Given the description of an element on the screen output the (x, y) to click on. 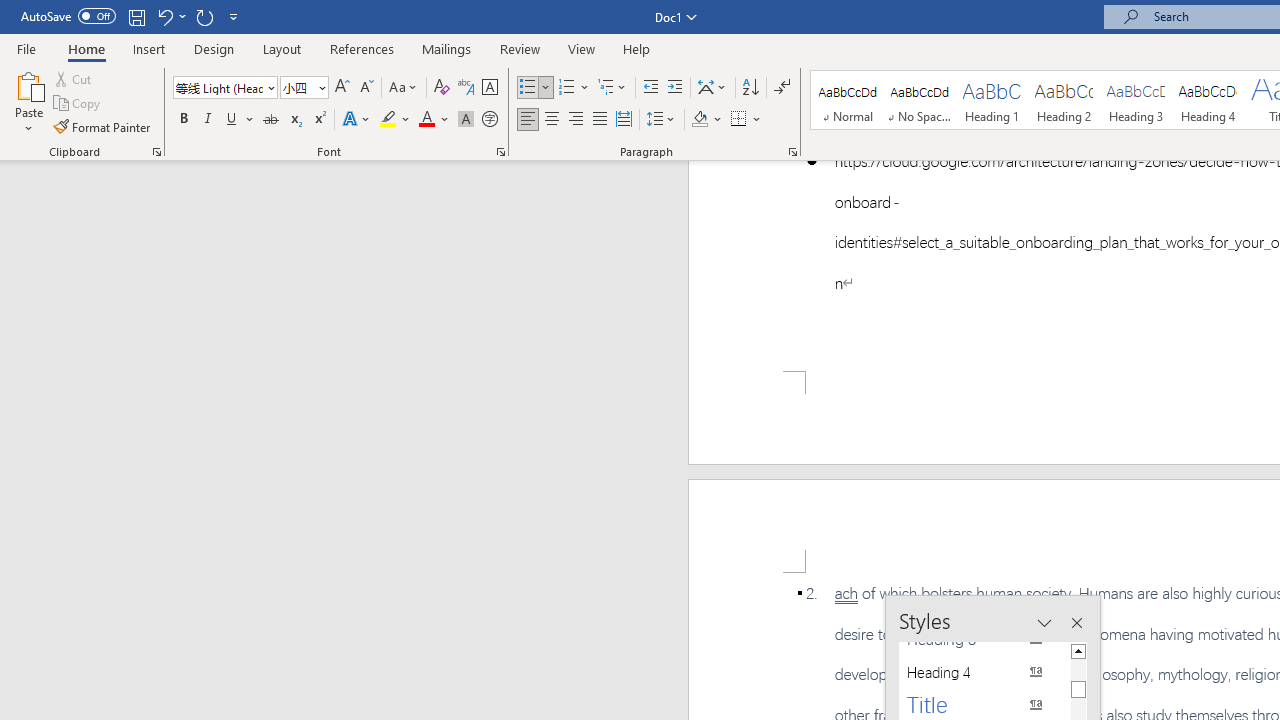
Copy (78, 103)
Paragraph... (792, 151)
Shrink Font (365, 87)
Italic (207, 119)
